Given the description of an element on the screen output the (x, y) to click on. 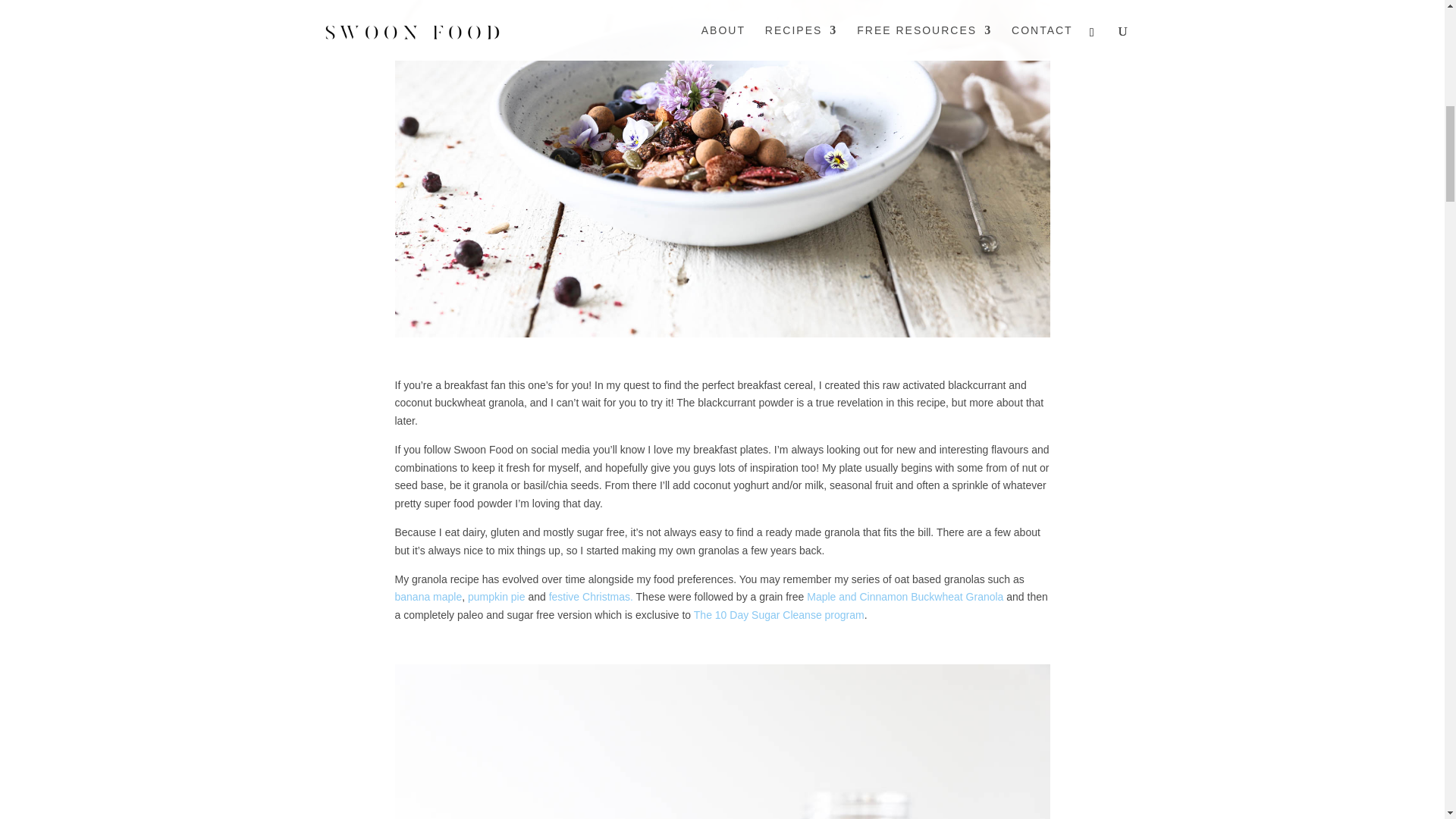
pumpkin pie (496, 596)
banana maple (427, 596)
Maple and Cinnamon Buckwheat Granola (904, 596)
festive Christmas. (590, 596)
The 10 Day Sugar Cleanse program (779, 614)
